Given the description of an element on the screen output the (x, y) to click on. 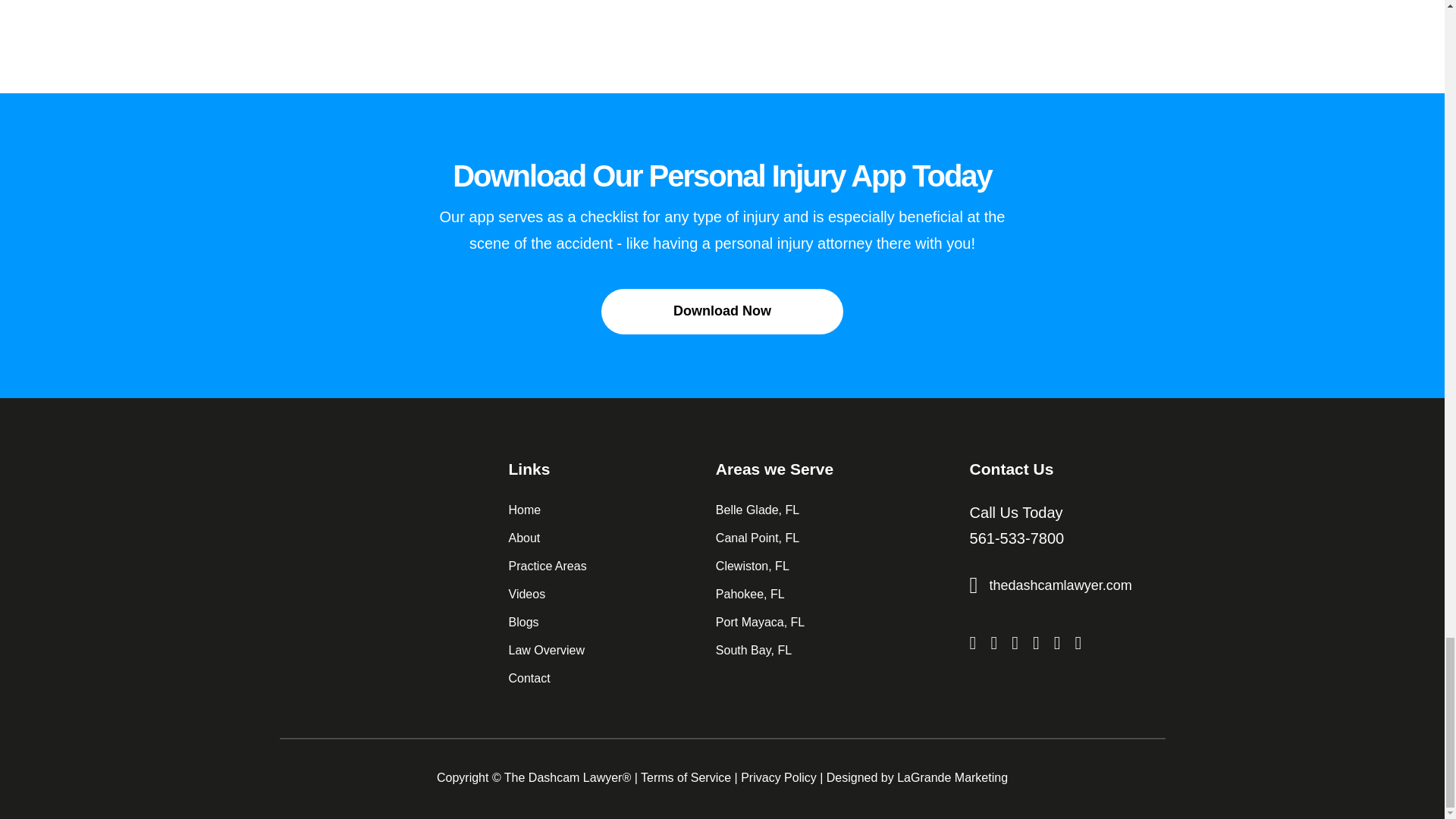
logo-footer (365, 485)
